Given the description of an element on the screen output the (x, y) to click on. 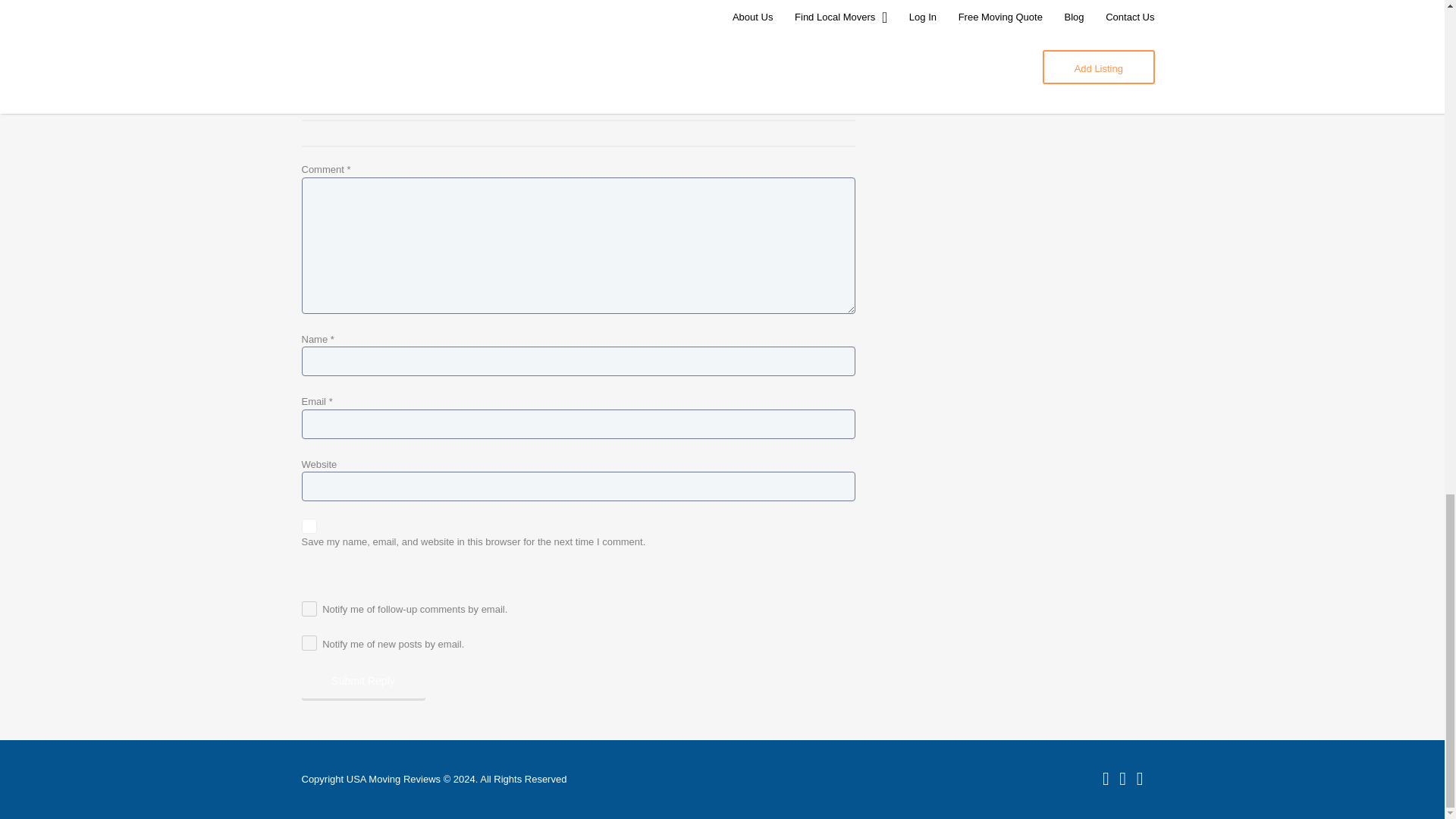
Submit Reply (363, 680)
subscribe (309, 608)
subscribe (309, 642)
yes (309, 525)
